Given the description of an element on the screen output the (x, y) to click on. 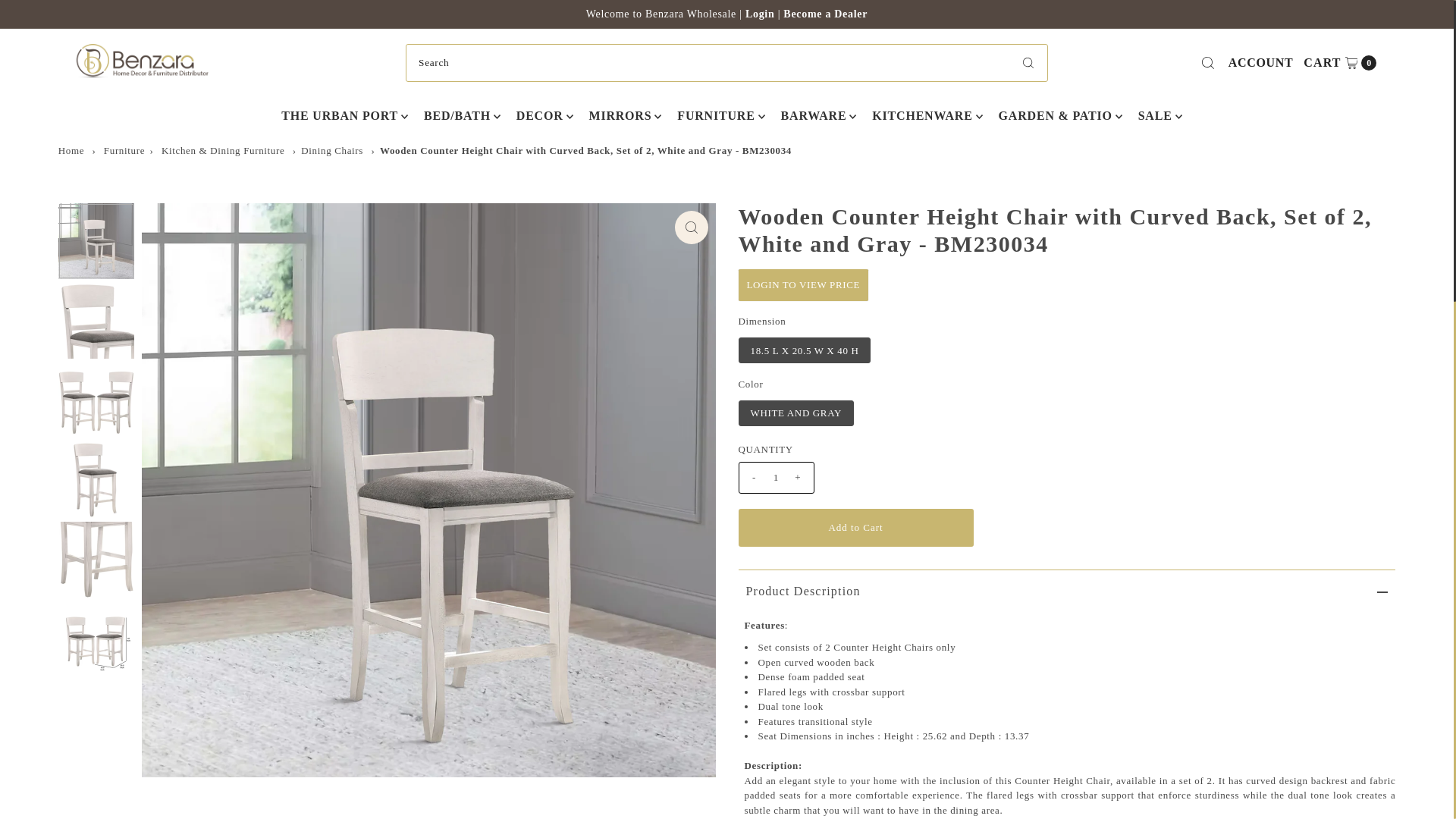
Login (761, 13)
ACCOUNT (1340, 62)
THE URBAN PORT (1260, 62)
Become a Dealer (339, 116)
Home (825, 13)
Click to zoom (71, 149)
Furniture (691, 227)
Dining Chairs (123, 149)
Add to Cart (331, 149)
